Given the description of an element on the screen output the (x, y) to click on. 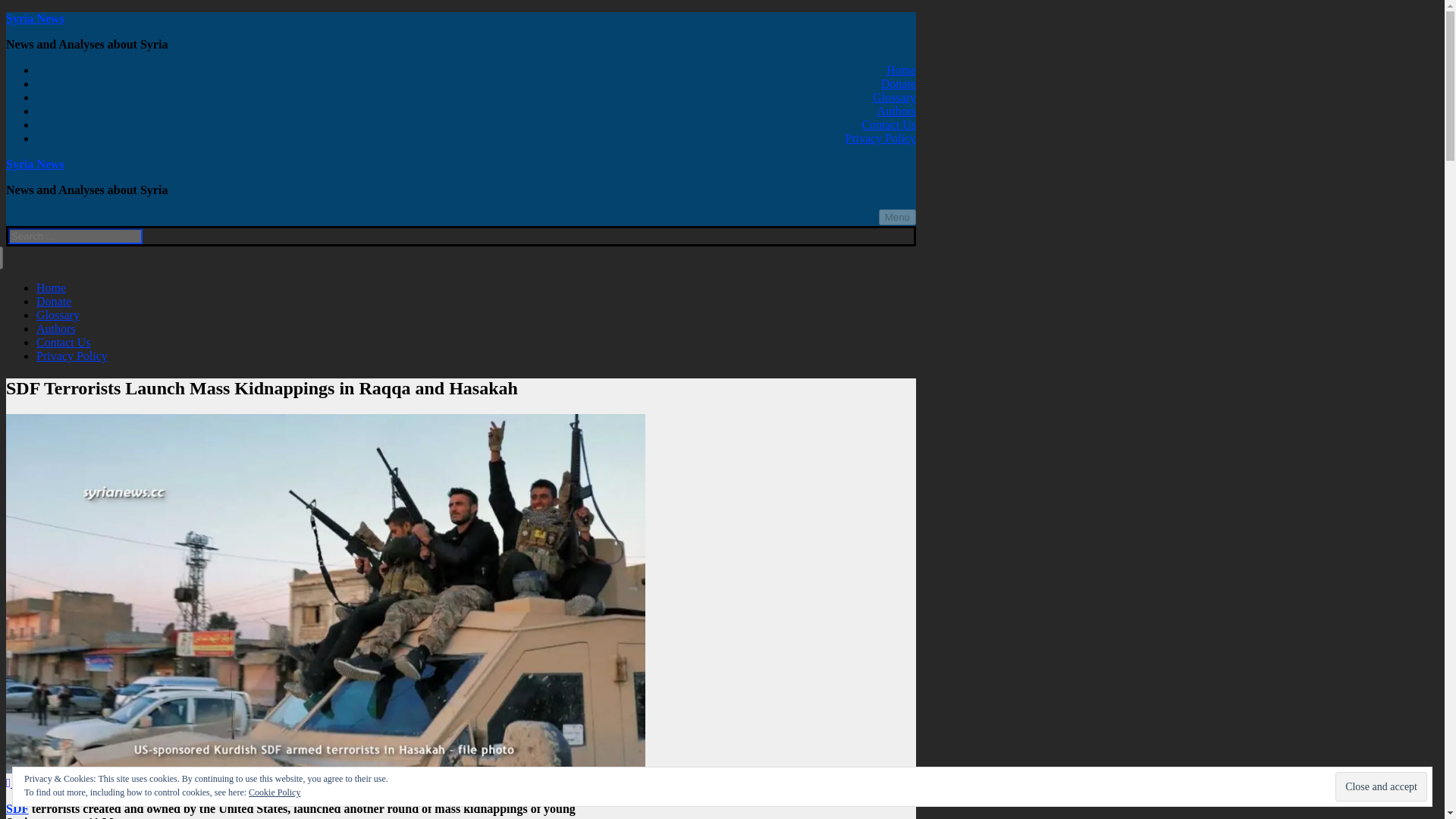
Contact Us (63, 341)
Home (50, 287)
Donate (53, 300)
A US-sponsored separatist Kurdish militia. (17, 808)
Menu (897, 217)
Search for: (75, 236)
Glossary (893, 97)
Syria News (34, 18)
SDF (17, 808)
